Given the description of an element on the screen output the (x, y) to click on. 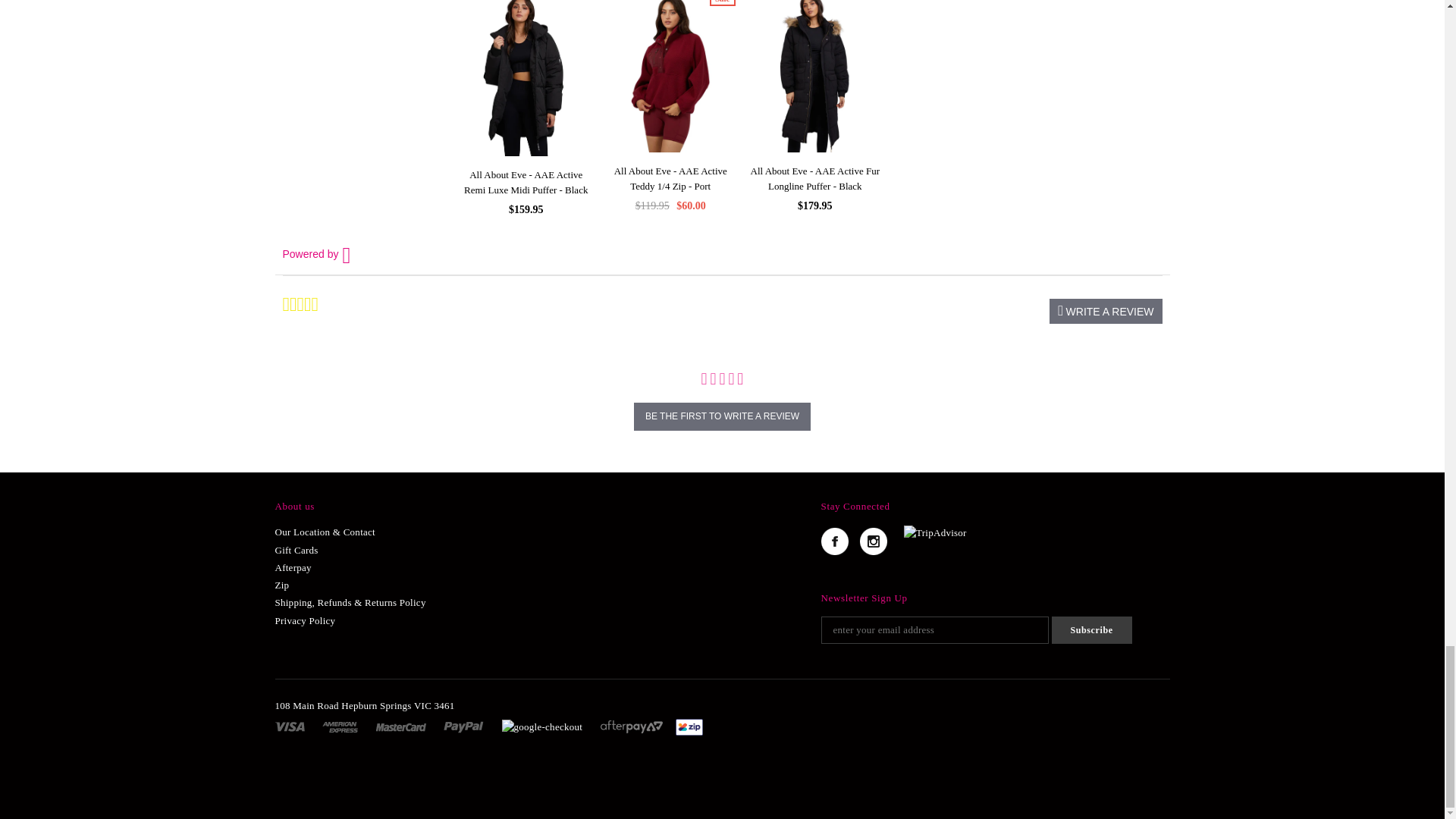
Subscribe (1091, 629)
